Given the description of an element on the screen output the (x, y) to click on. 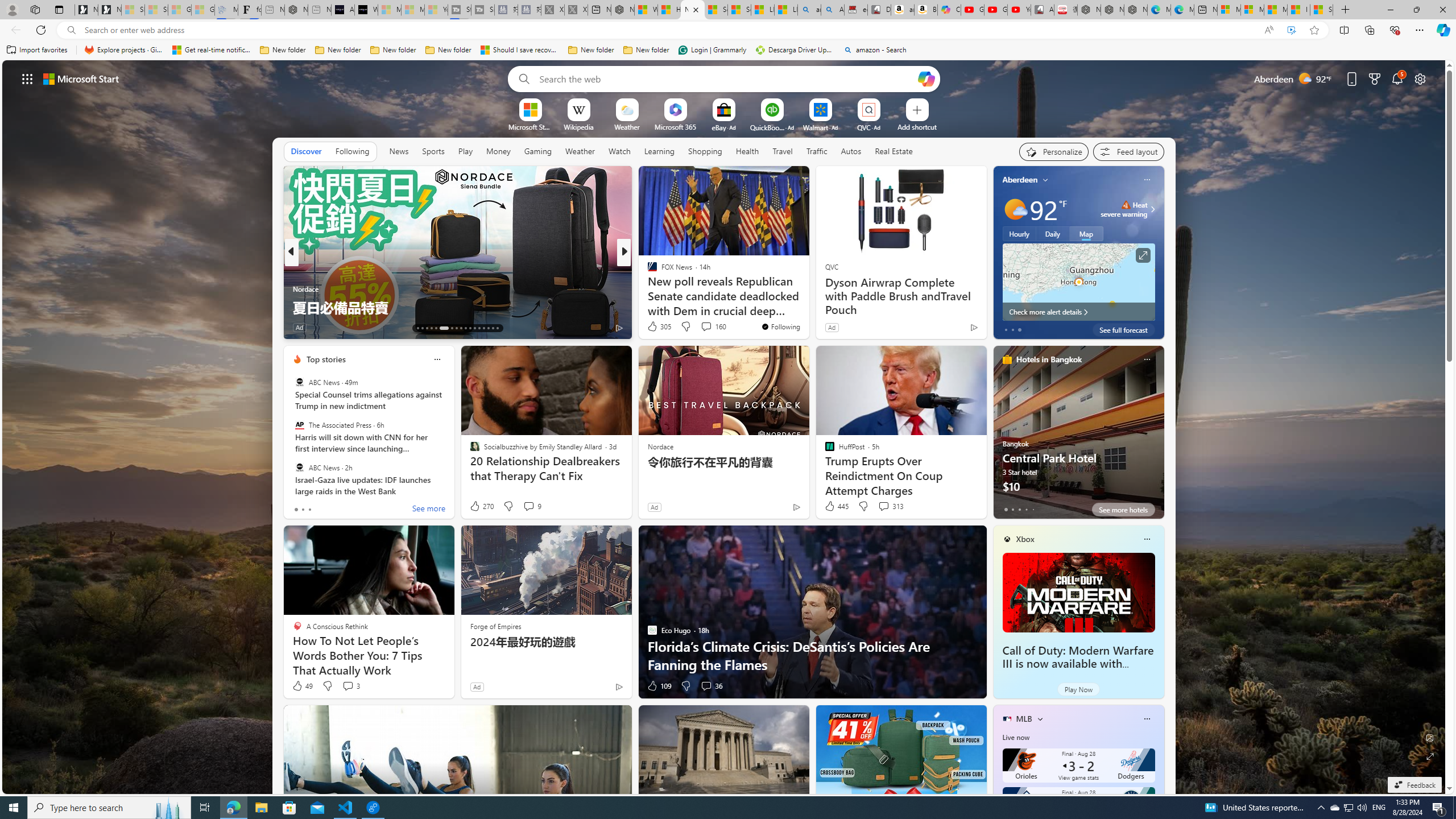
New folder (646, 49)
AutomationID: tab-42 (492, 328)
109 Like (658, 685)
AutomationID: tab-41 (488, 328)
It's officially the end for Windows 10! (807, 307)
Microsoft Start Sports (529, 126)
View comments 160 Comment (705, 326)
AI Voice Changer for PC and Mac - Voice.ai (342, 9)
App bar (728, 29)
